Given the description of an element on the screen output the (x, y) to click on. 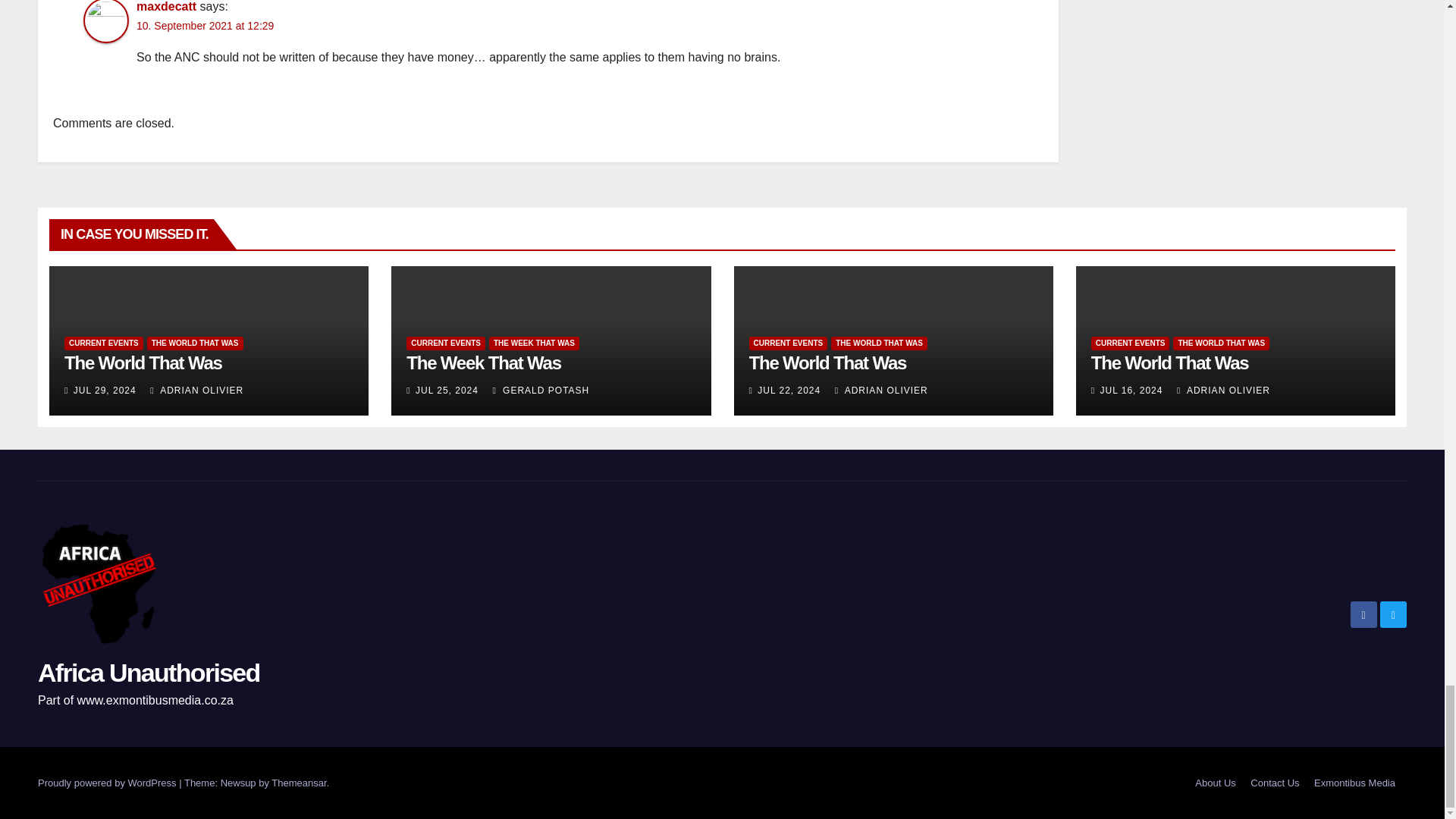
Permalink to: The World That Was (143, 362)
Permalink to: The Week That Was (483, 362)
10. September 2021 at 12:29 (204, 26)
Permalink to: The World That Was (1169, 362)
Permalink to: The World That Was (828, 362)
maxdecatt (166, 6)
